Given the description of an element on the screen output the (x, y) to click on. 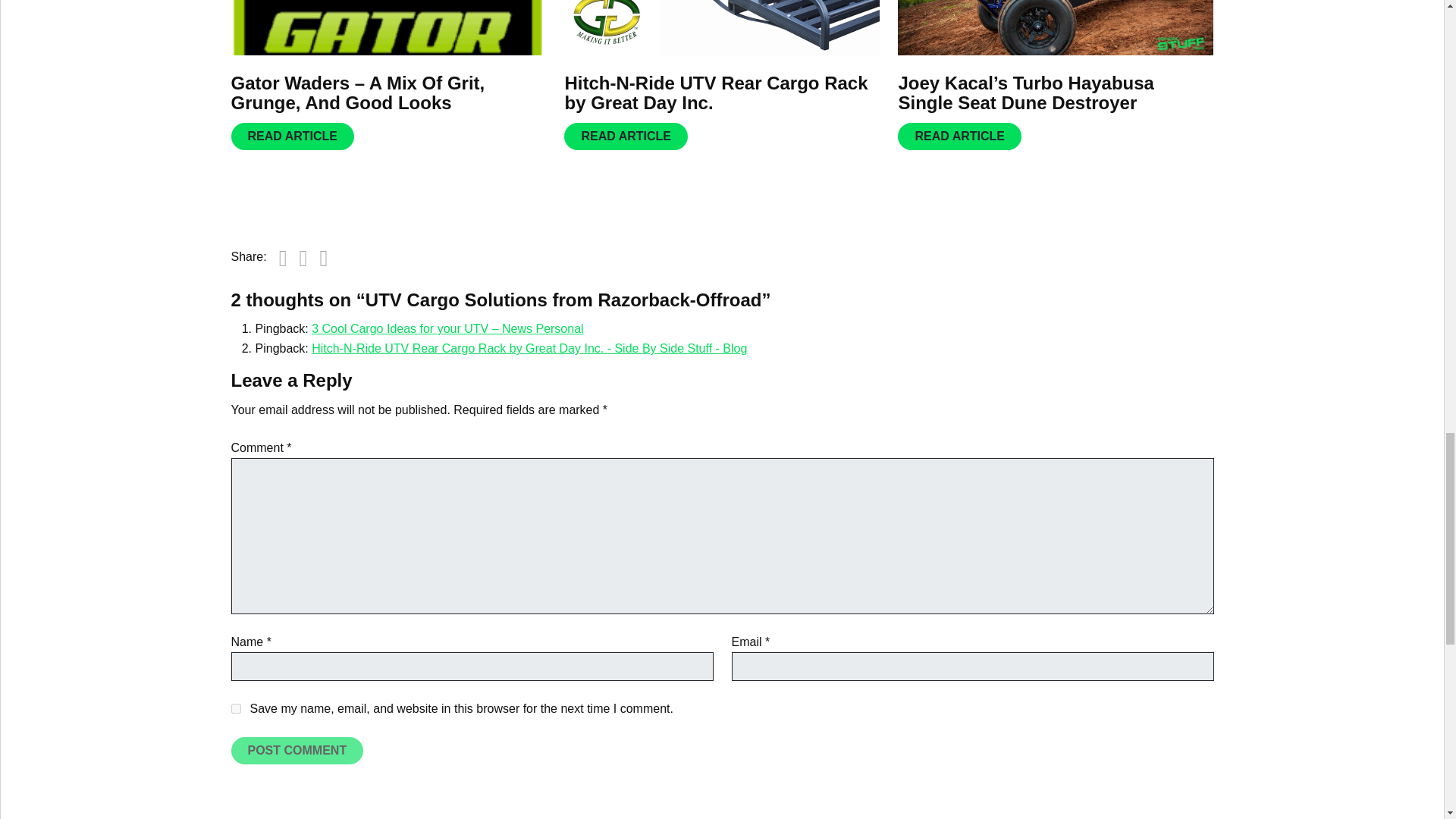
READ ARTICLE (625, 135)
Post Comment (296, 750)
READ ARTICLE (291, 135)
yes (235, 708)
Post Comment (296, 750)
READ ARTICLE (960, 135)
